Given the description of an element on the screen output the (x, y) to click on. 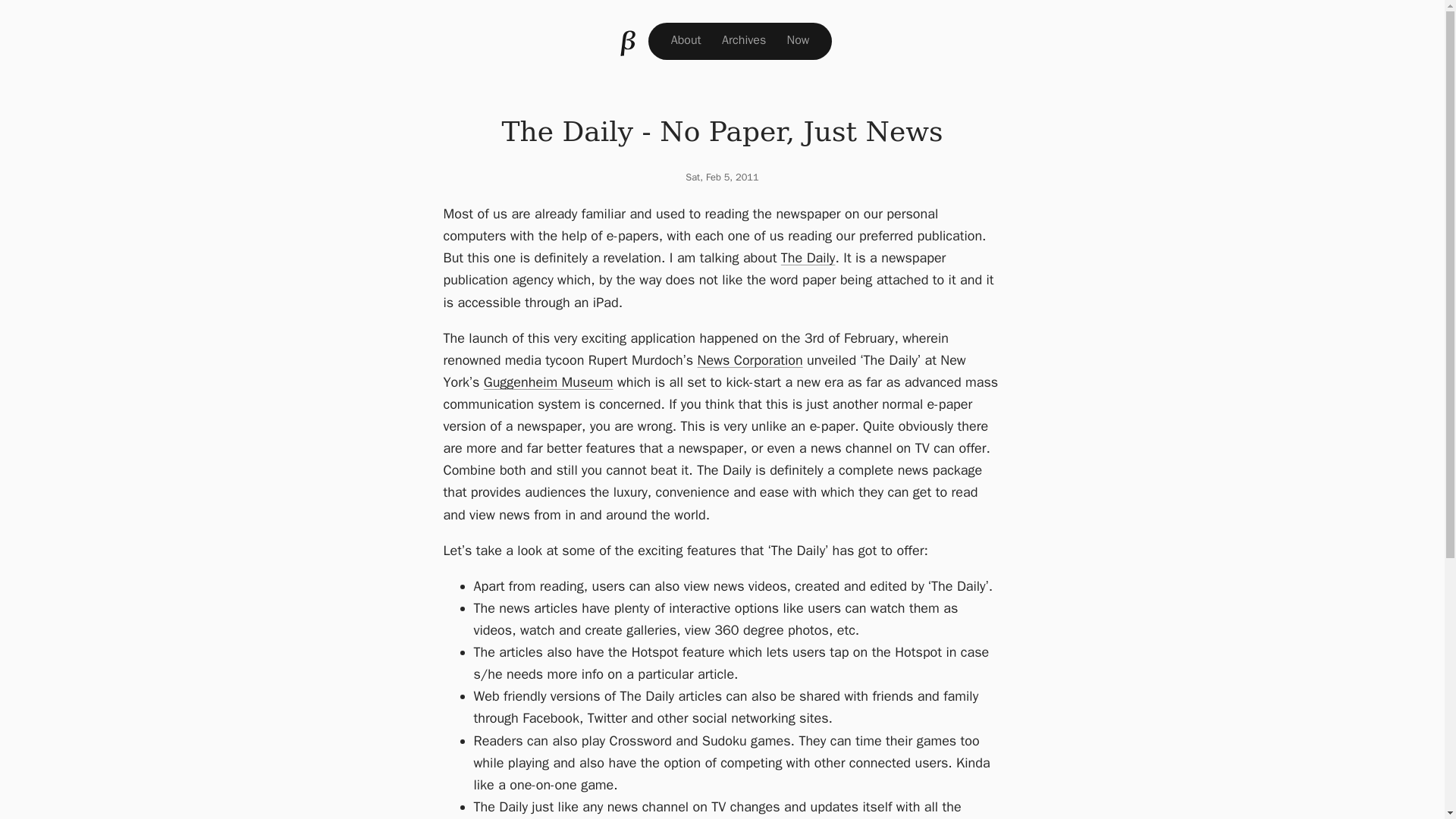
Guggenheim Museum (547, 381)
Now (796, 40)
Archives (743, 40)
Archives (743, 40)
About (686, 40)
News Corporation (750, 360)
About (686, 40)
The Daily (807, 257)
Home (628, 41)
Now (796, 40)
